Given the description of an element on the screen output the (x, y) to click on. 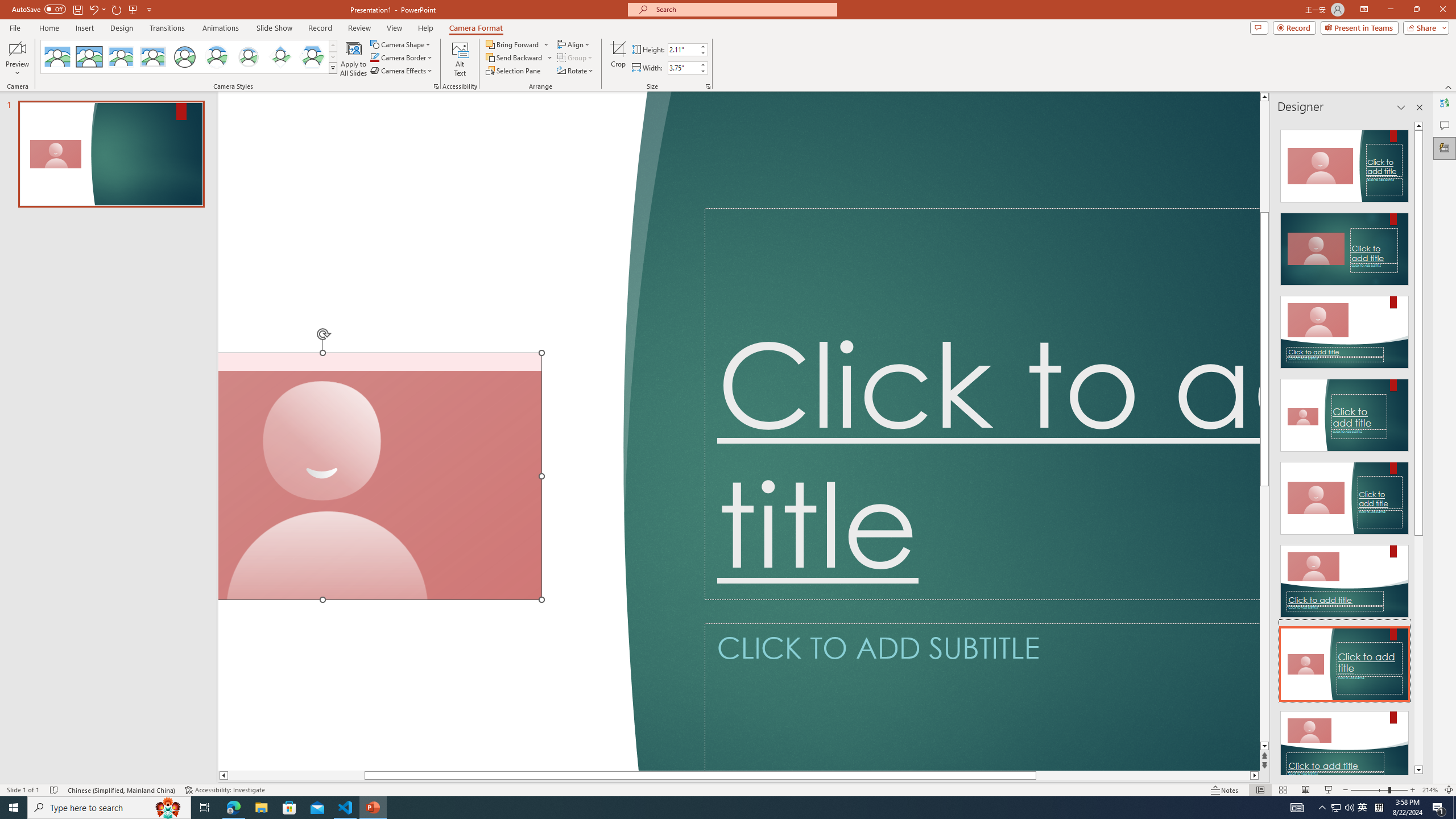
Camera Effects (402, 69)
Row up (333, 45)
Soft Edge Circle (248, 56)
Decorative Locked (436, 430)
Microsoft search (742, 9)
Cameo Width (682, 67)
